Given the description of an element on the screen output the (x, y) to click on. 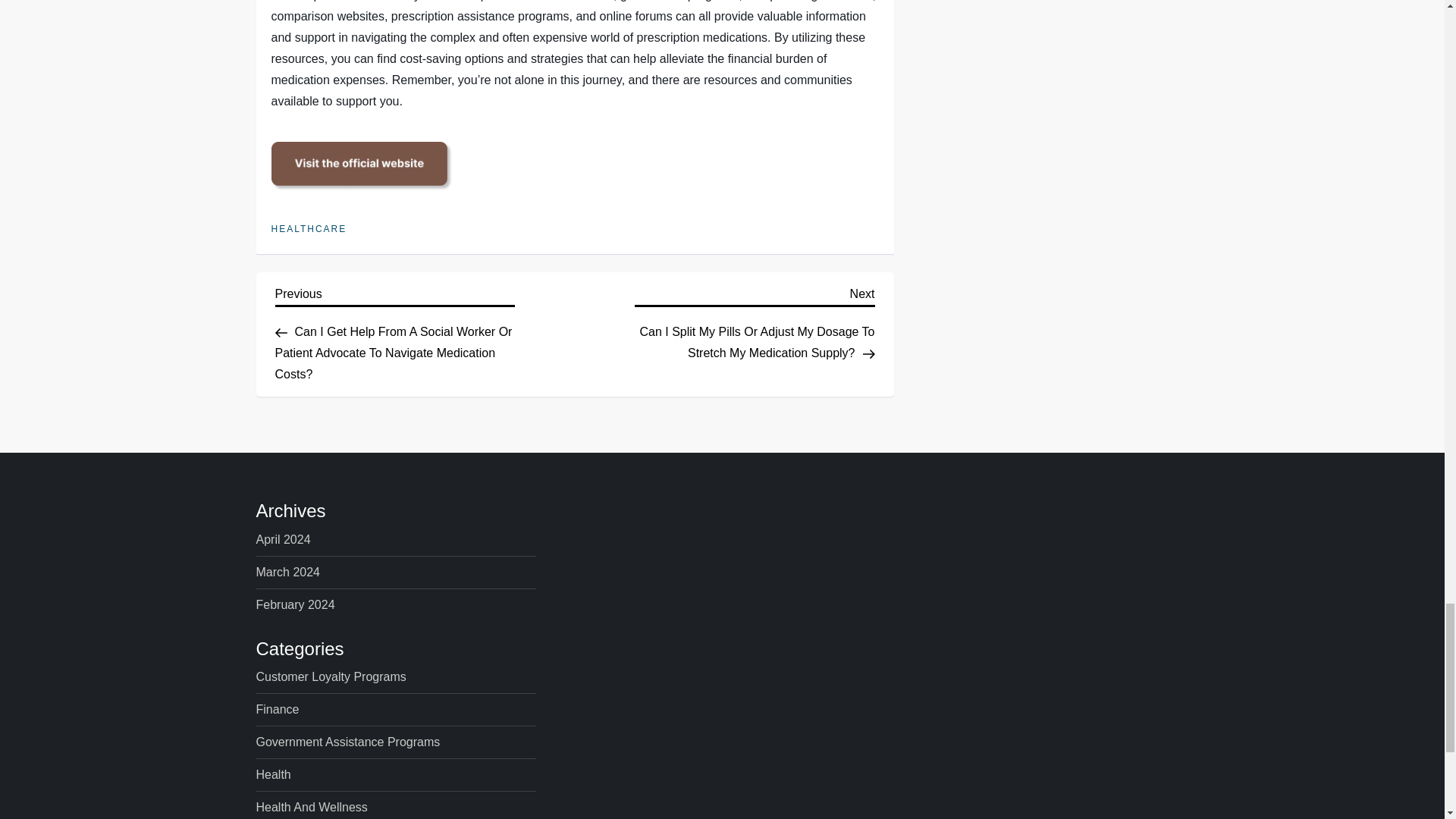
March 2024 (288, 572)
Government Assistance Programs (348, 742)
February 2024 (295, 604)
Finance (277, 709)
Health (273, 774)
HEALTHCARE (308, 229)
Customer Loyalty Programs (331, 676)
April 2024 (283, 539)
